Given the description of an element on the screen output the (x, y) to click on. 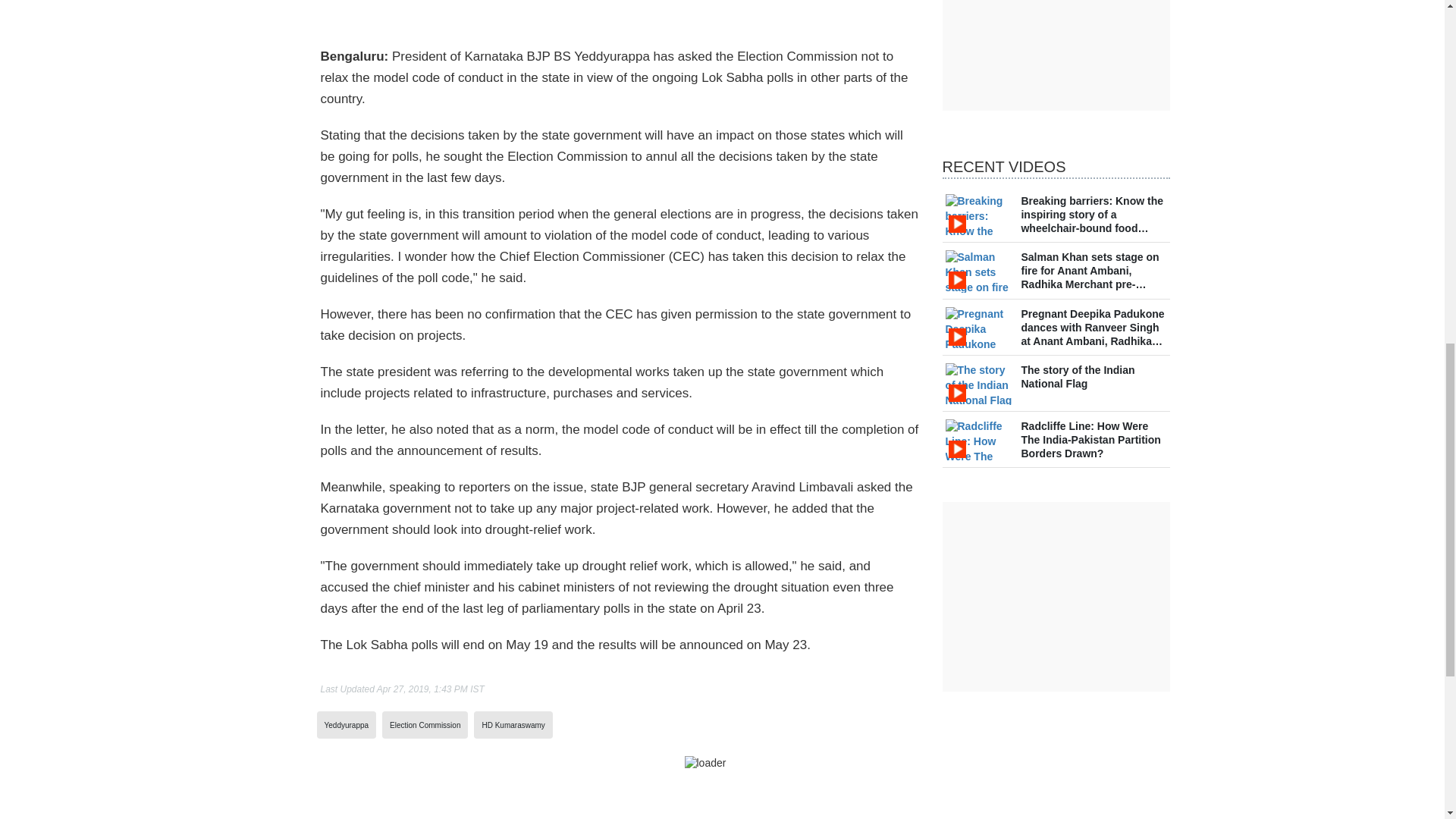
Election Commission (425, 725)
HD Kumaraswamy (512, 725)
Yeddyurappa (346, 725)
